Given the description of an element on the screen output the (x, y) to click on. 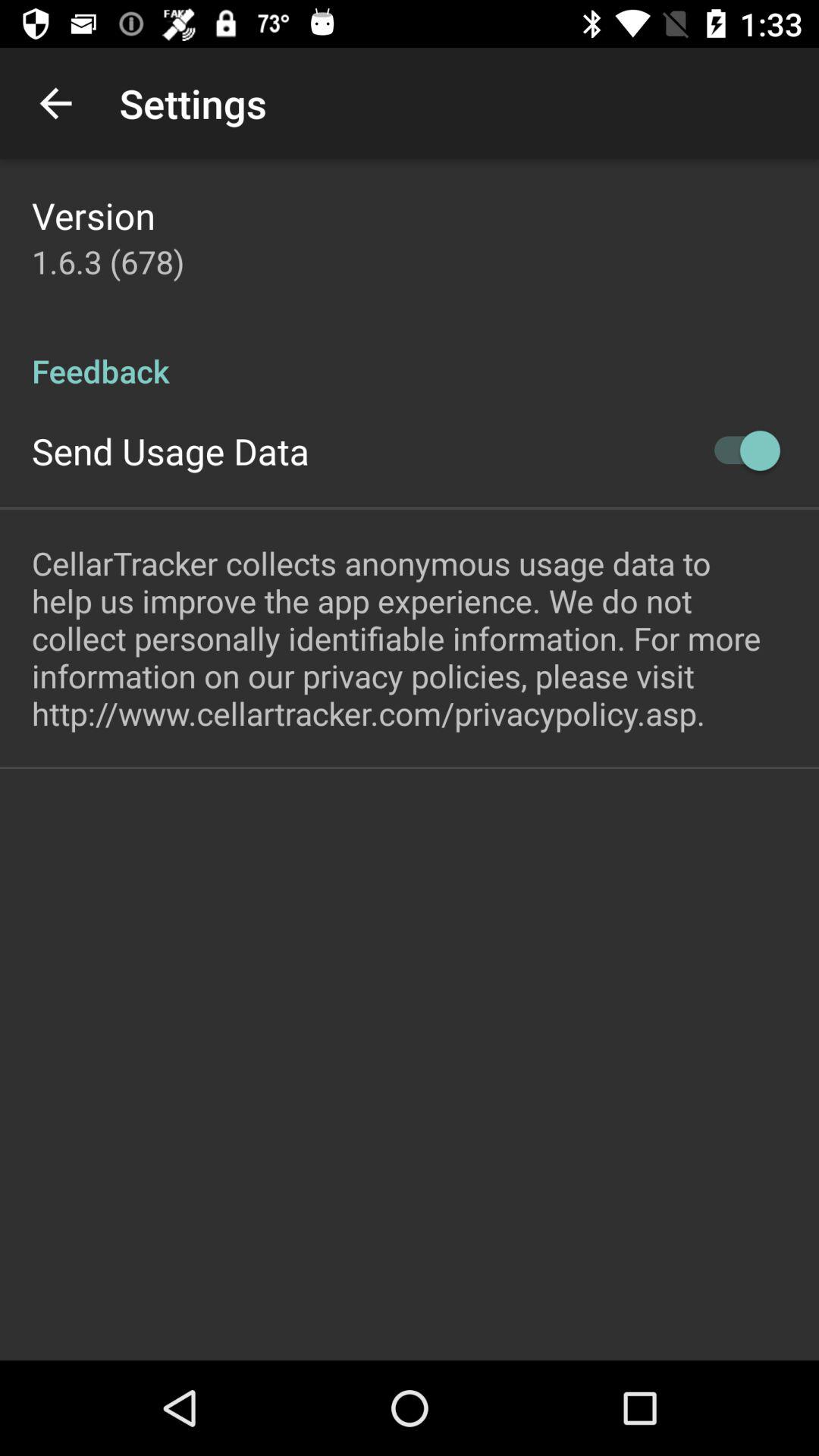
select item below version item (107, 261)
